Given the description of an element on the screen output the (x, y) to click on. 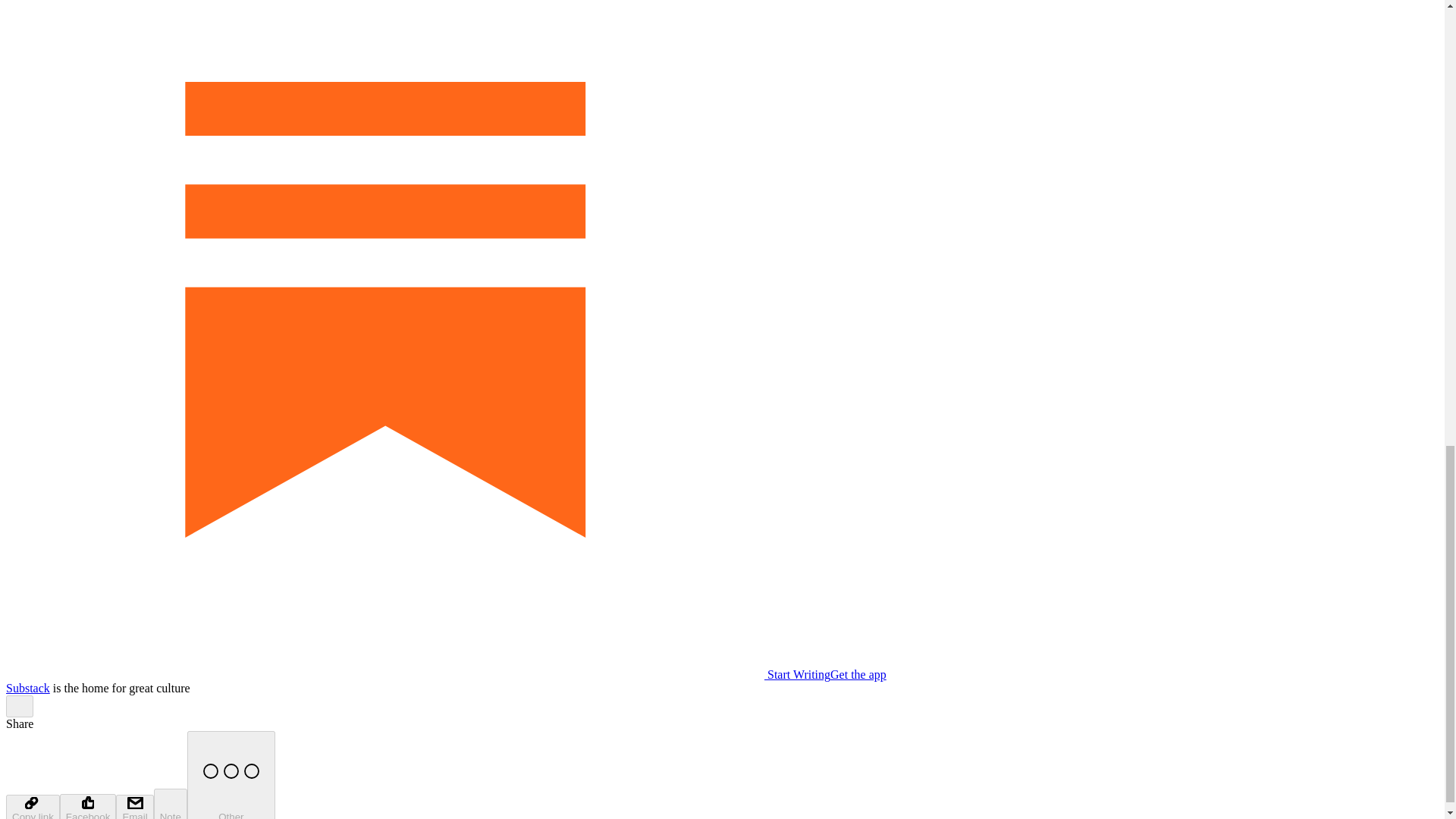
Start Writing (417, 674)
Get the app (857, 674)
Substack (27, 687)
